Given the description of an element on the screen output the (x, y) to click on. 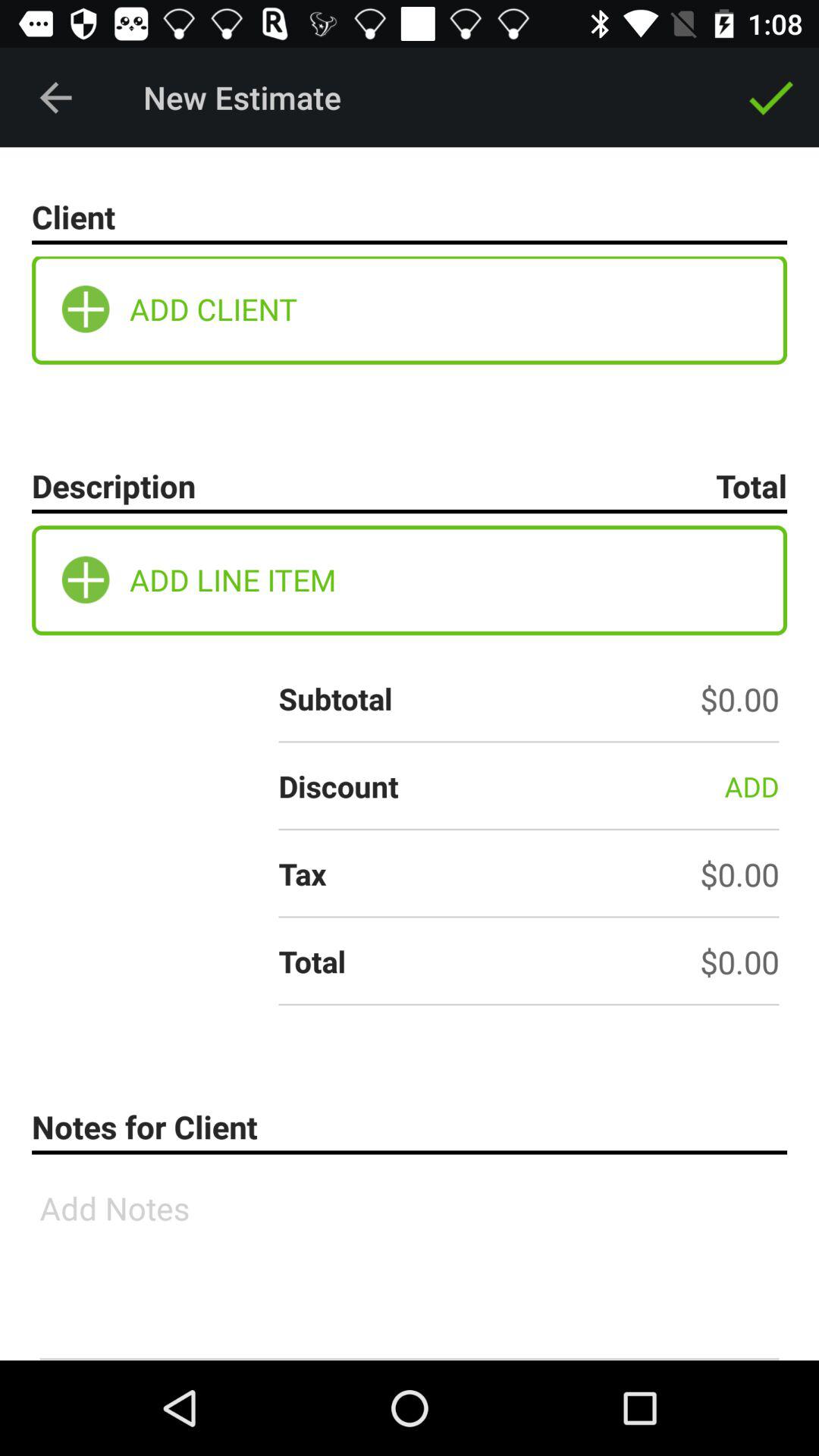
press the icon below notes for client (409, 1263)
